Given the description of an element on the screen output the (x, y) to click on. 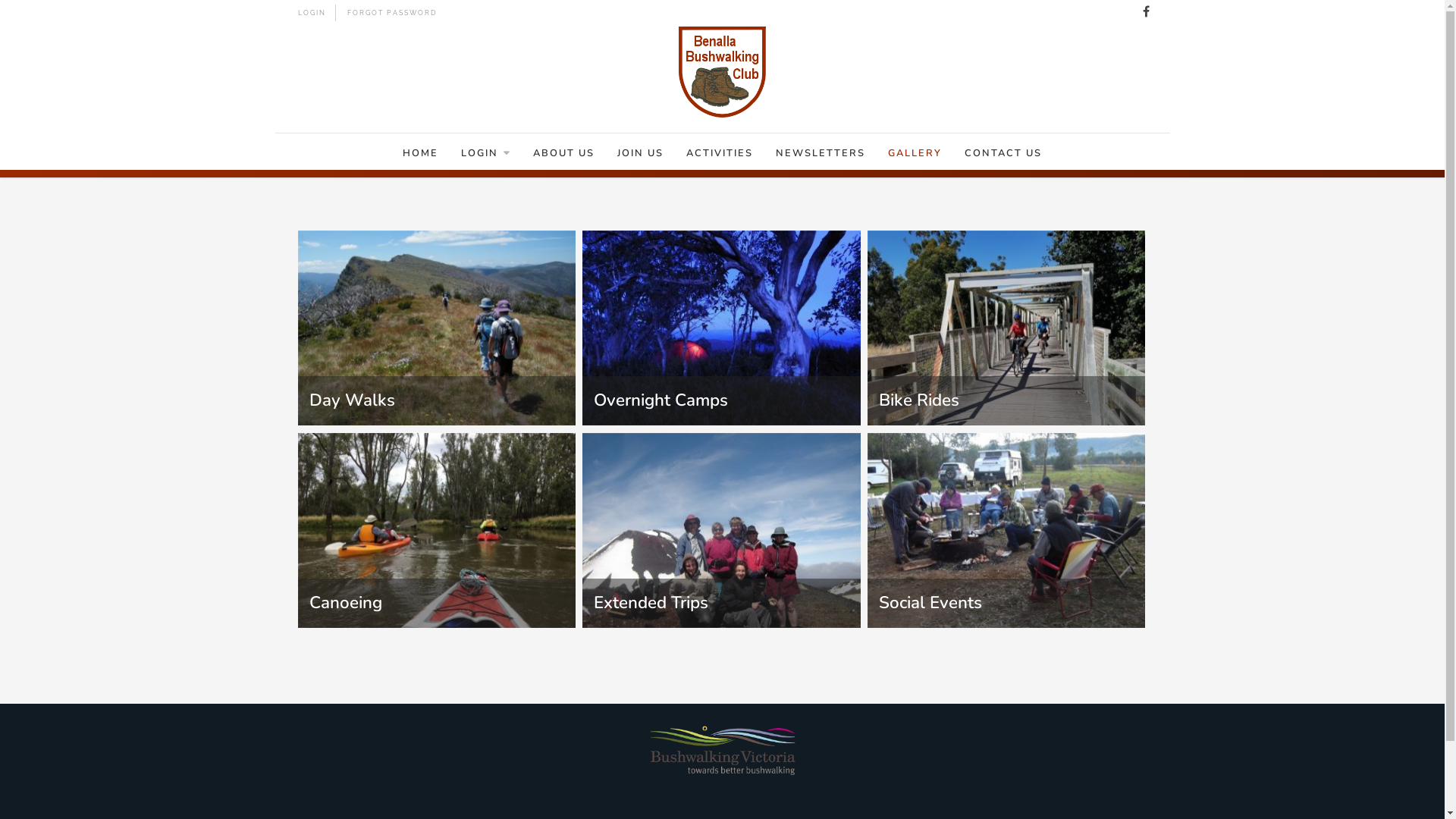
CONTACT US Element type: text (1002, 151)
FORGOT PASSWORD Element type: text (390, 12)
ABOUT US Element type: text (563, 151)
LOGIN Element type: text (310, 12)
HOME Element type: text (420, 151)
Benalla Bushwalking Club Element type: hover (721, 71)
JOIN US Element type: text (640, 151)
Day Walks Element type: text (436, 327)
ACTIVITIES Element type: text (719, 151)
Bike Rides Element type: text (1006, 327)
Canoeing Element type: text (436, 530)
Extended Trips Element type: text (721, 530)
Overnight Camps Element type: text (721, 327)
GALLERY Element type: text (914, 151)
Social Events Element type: text (1006, 530)
LOGIN Element type: text (485, 151)
Facebook Element type: text (1146, 12)
NEWSLETTERS Element type: text (820, 151)
